Given the description of an element on the screen output the (x, y) to click on. 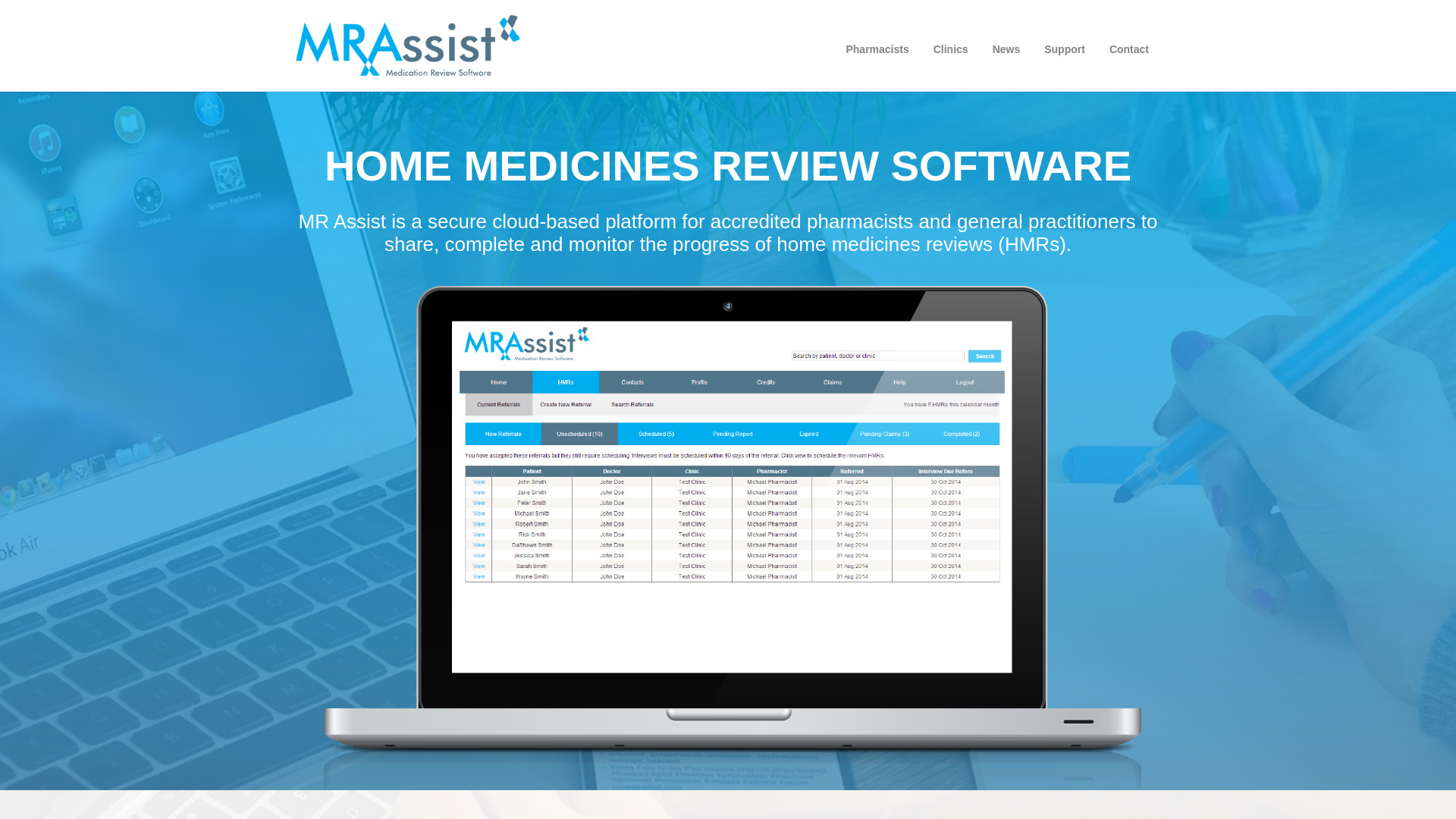
Support Element type: text (1064, 49)
Pharmacists Element type: text (876, 49)
News Element type: text (1006, 49)
Clinics Element type: text (950, 49)
Contact Element type: text (1129, 49)
